Given the description of an element on the screen output the (x, y) to click on. 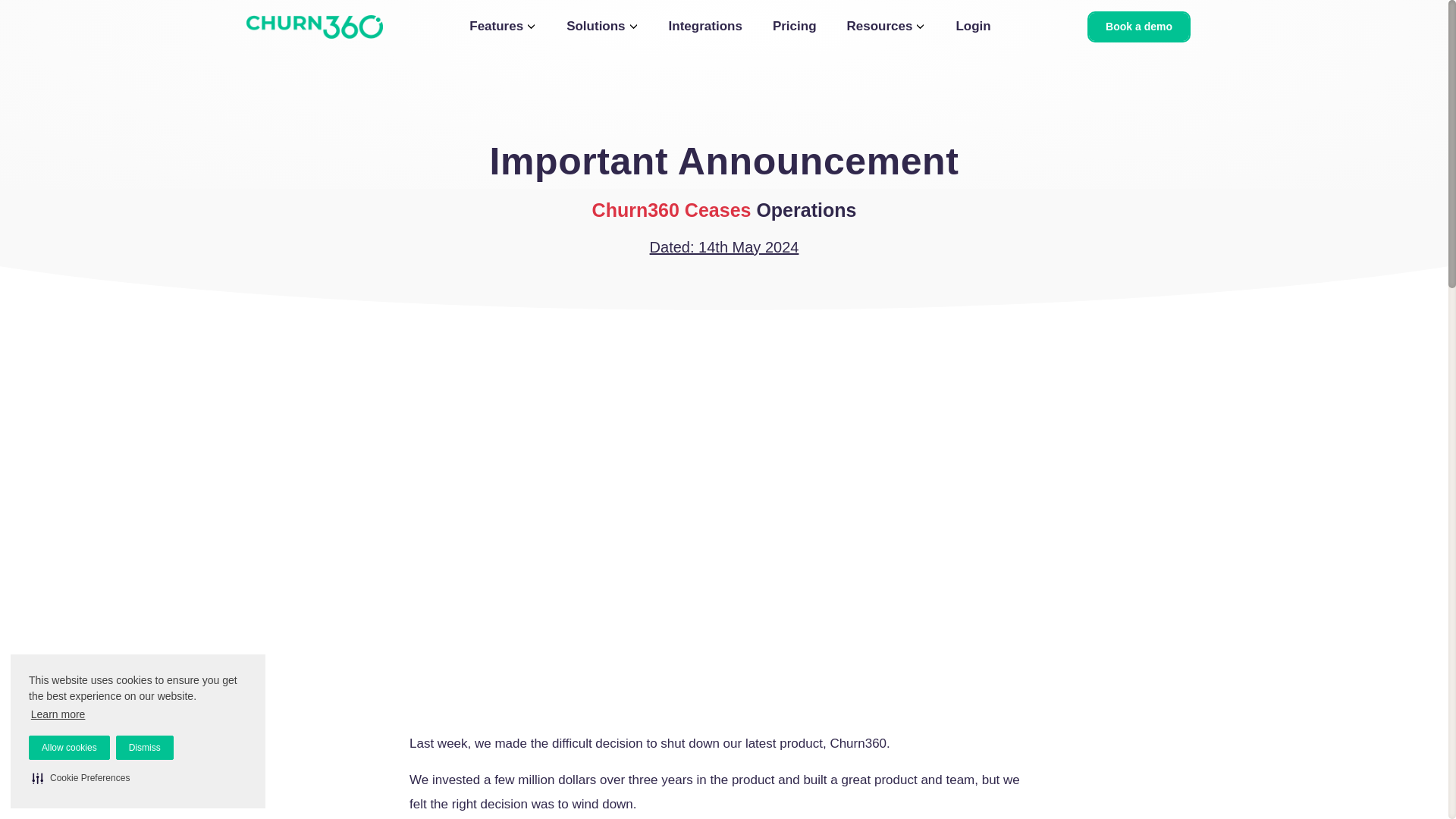
Learn more (58, 714)
Pricing (794, 26)
Dismiss (144, 747)
Solutions (601, 26)
Features (501, 26)
Cookie Preferences (80, 777)
Login (972, 26)
Integrations (705, 26)
Resources (886, 26)
Allow cookies (69, 747)
Book a demo (1139, 25)
